Given the description of an element on the screen output the (x, y) to click on. 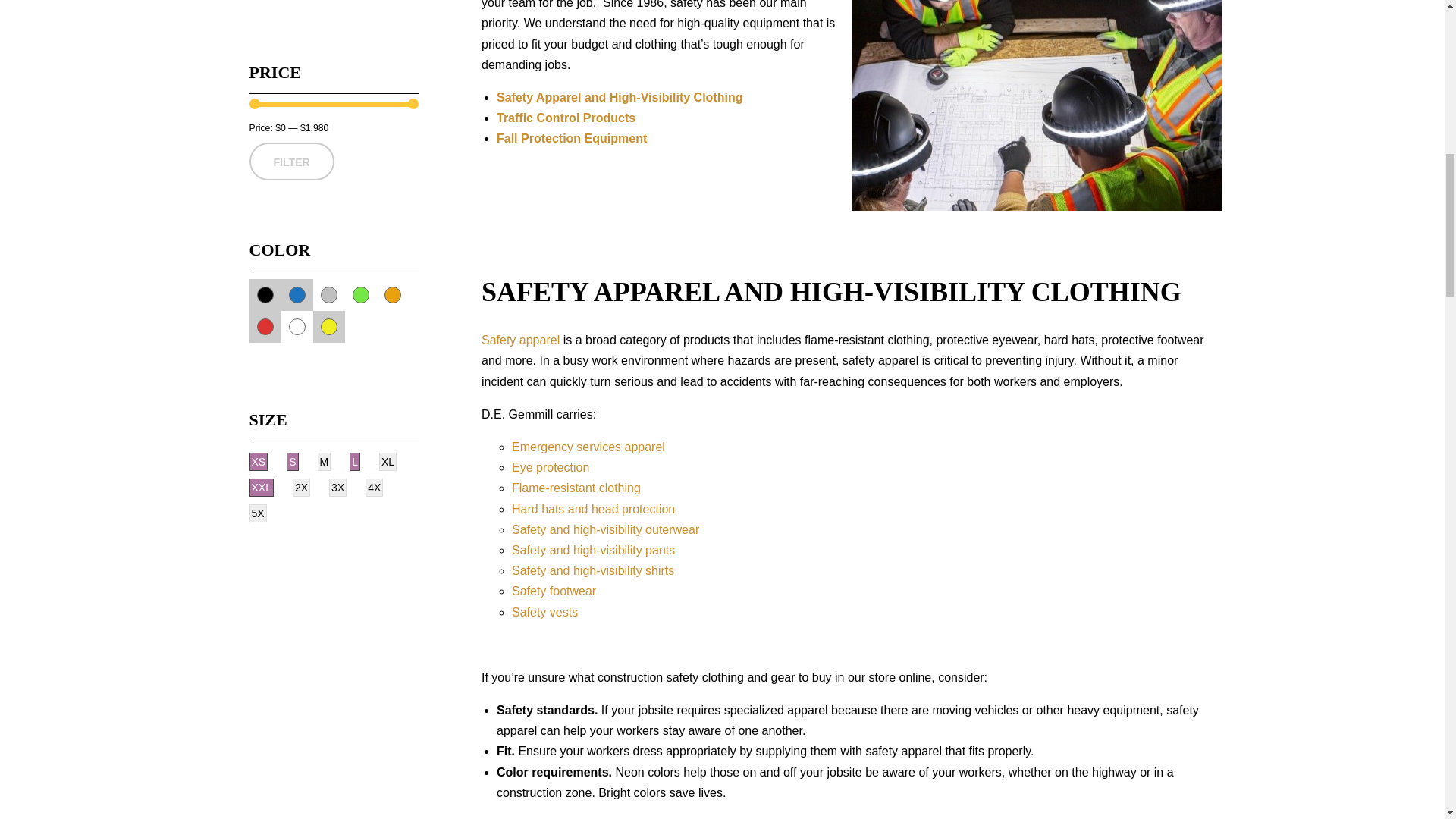
XL (387, 461)
Yellow (328, 326)
Gray (328, 294)
Red (264, 326)
S (292, 461)
L (354, 461)
4X (373, 487)
Orange (392, 294)
2X (301, 487)
XS (257, 461)
M (324, 461)
White (296, 326)
Blue (296, 294)
3X (337, 487)
XXL (260, 487)
